Given the description of an element on the screen output the (x, y) to click on. 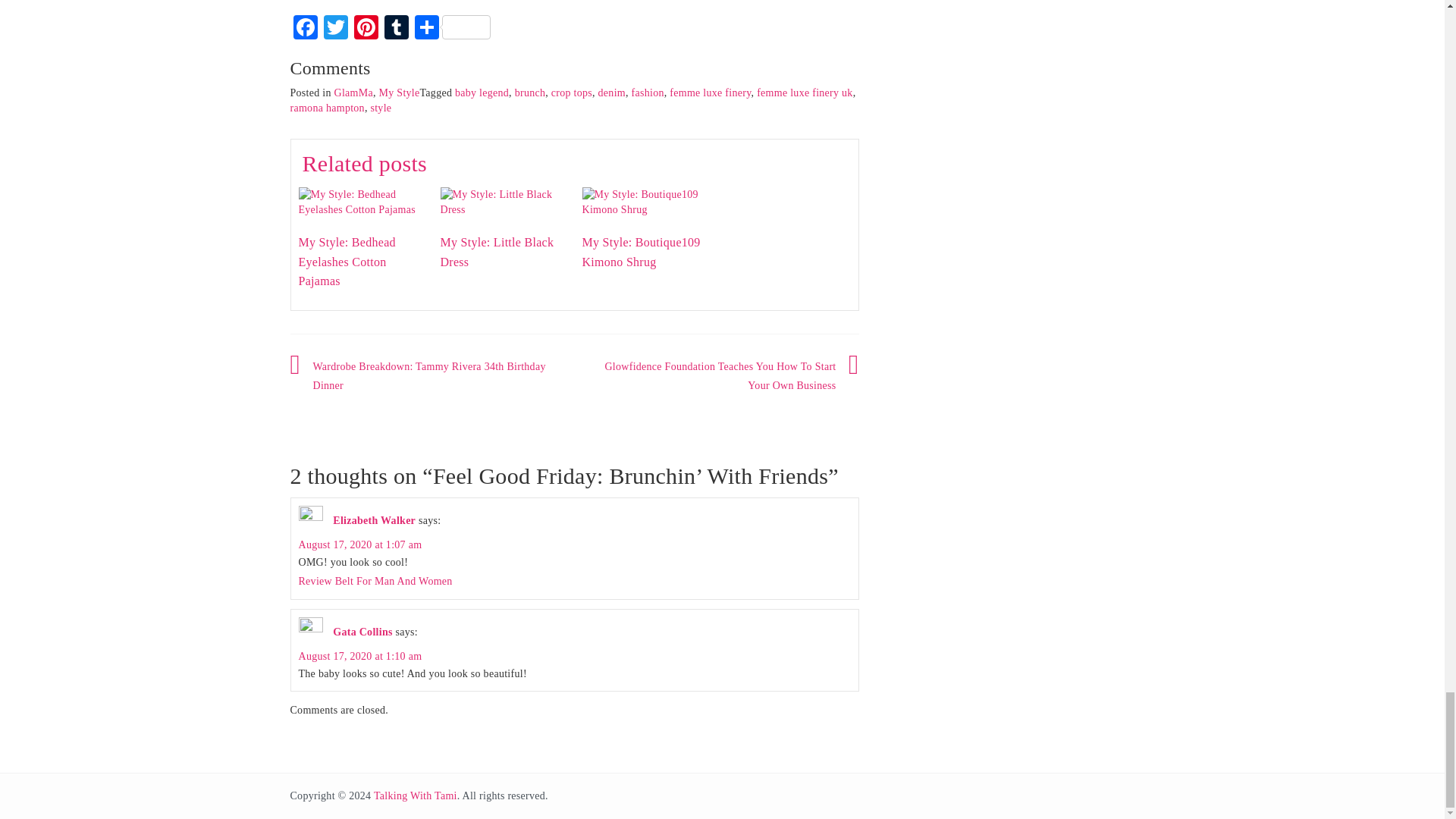
brunch (530, 92)
My Style: Little Black Dress (502, 201)
Pinterest (365, 29)
August 17, 2020 at 1:07 am (360, 544)
August 17, 2020 at 1:10 am (360, 655)
My Style: Bedhead Eyelashes Cotton Pajamas (361, 201)
My Style: Bedhead Eyelashes Cotton Pajamas (347, 261)
Talking With Tami (415, 795)
Elizabeth Walker (373, 520)
Wardrobe Breakdown: Tammy Rivera 34th Birthday Dinner (428, 376)
My Style: Bedhead Eyelashes Cotton Pajamas (361, 202)
My Style: Little Black Dress (496, 251)
baby legend (481, 92)
ramona hampton (326, 107)
My Style: Boutique109 Kimono Shrug (641, 251)
